Given the description of an element on the screen output the (x, y) to click on. 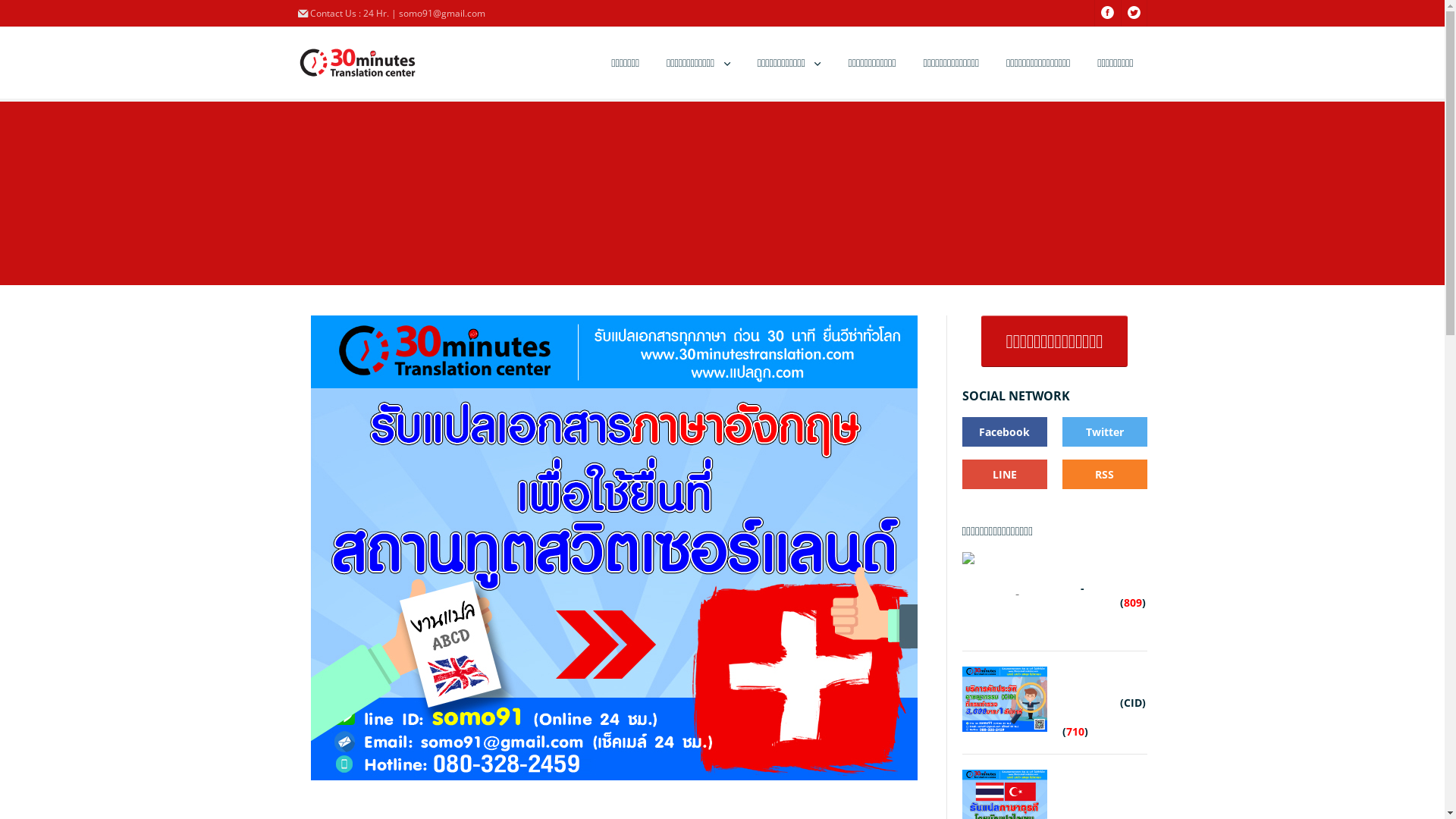
Facebook Element type: text (1003, 431)
Twitter Element type: text (1103, 431)
LINE Element type: text (1003, 474)
somo91@gmail.com Element type: text (441, 12)
RSS Element type: text (1103, 474)
